Given the description of an element on the screen output the (x, y) to click on. 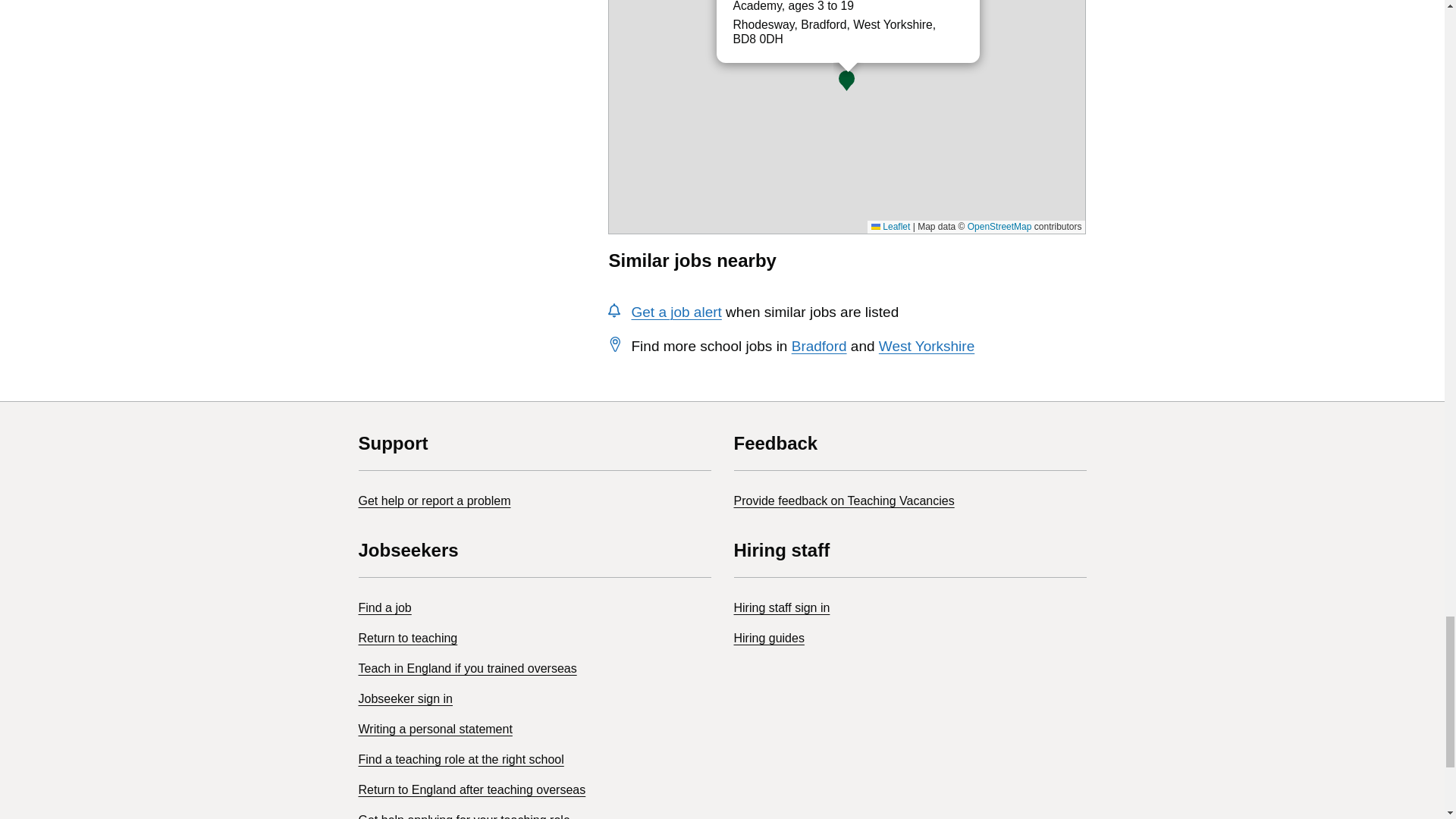
West Yorkshire (926, 345)
OpenStreetMap (1000, 226)
Get help or report a problem (434, 500)
Find a job (384, 607)
Writing a personal statement (435, 728)
A JavaScript library for interactive maps (890, 226)
Bradford (819, 345)
Get a job alert (675, 311)
Return to teaching (407, 637)
Jobseeker sign in (405, 698)
Teach in England if you trained overseas (467, 667)
Find a teaching role at the right school (460, 758)
Leaflet (890, 226)
